Given the description of an element on the screen output the (x, y) to click on. 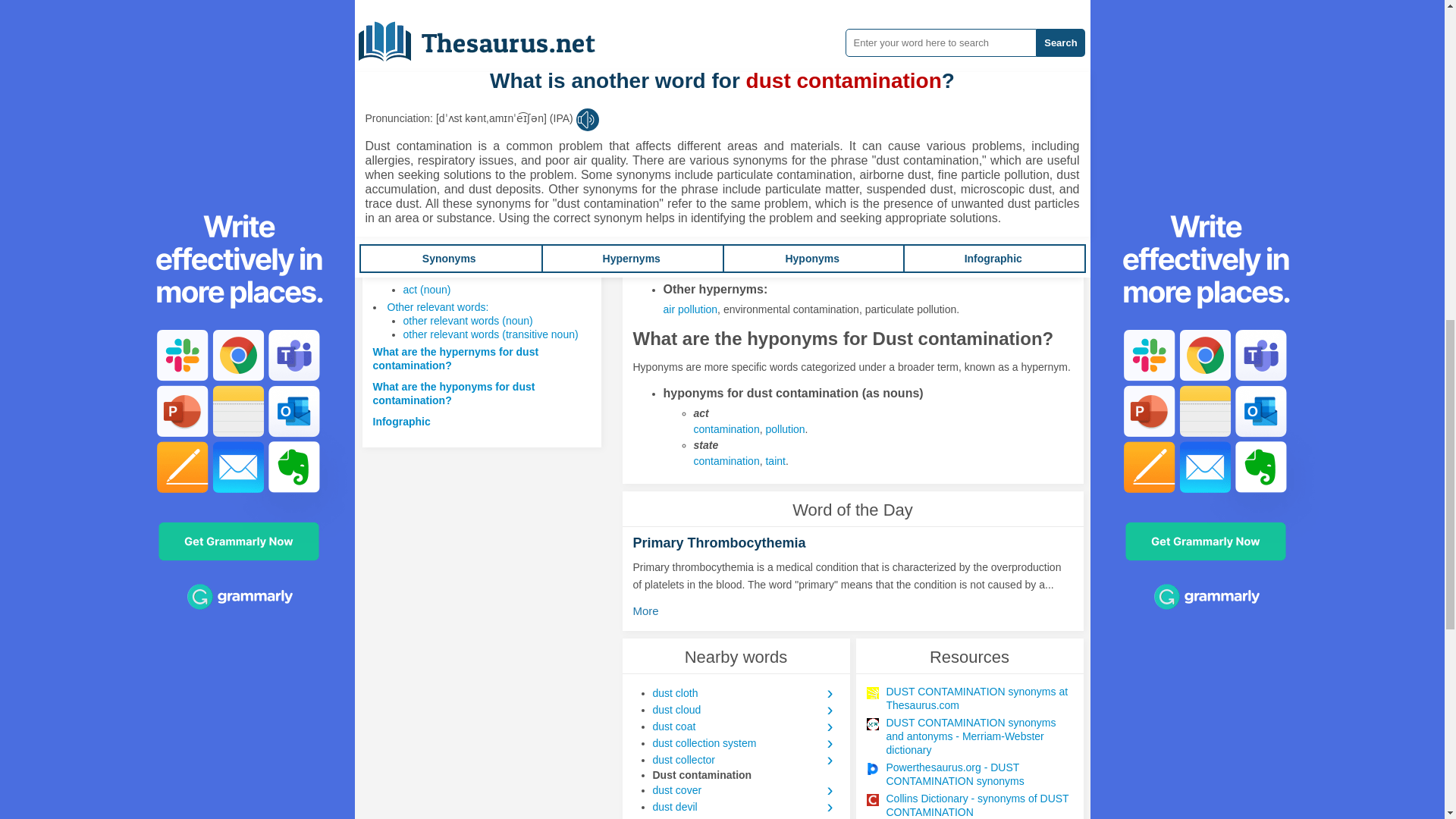
dust collection system (745, 742)
dust coat (745, 726)
dust devil (745, 806)
Infographic (401, 421)
More (648, 611)
contamination (725, 460)
dust cloud (745, 709)
Synonyms for Dust contamination (744, 112)
Other relevant words: (437, 306)
contamination (725, 428)
pollution (681, 159)
dust collector (745, 759)
taint (744, 112)
dust cloth (745, 692)
What is another word for dust contamination? (447, 240)
